Given the description of an element on the screen output the (x, y) to click on. 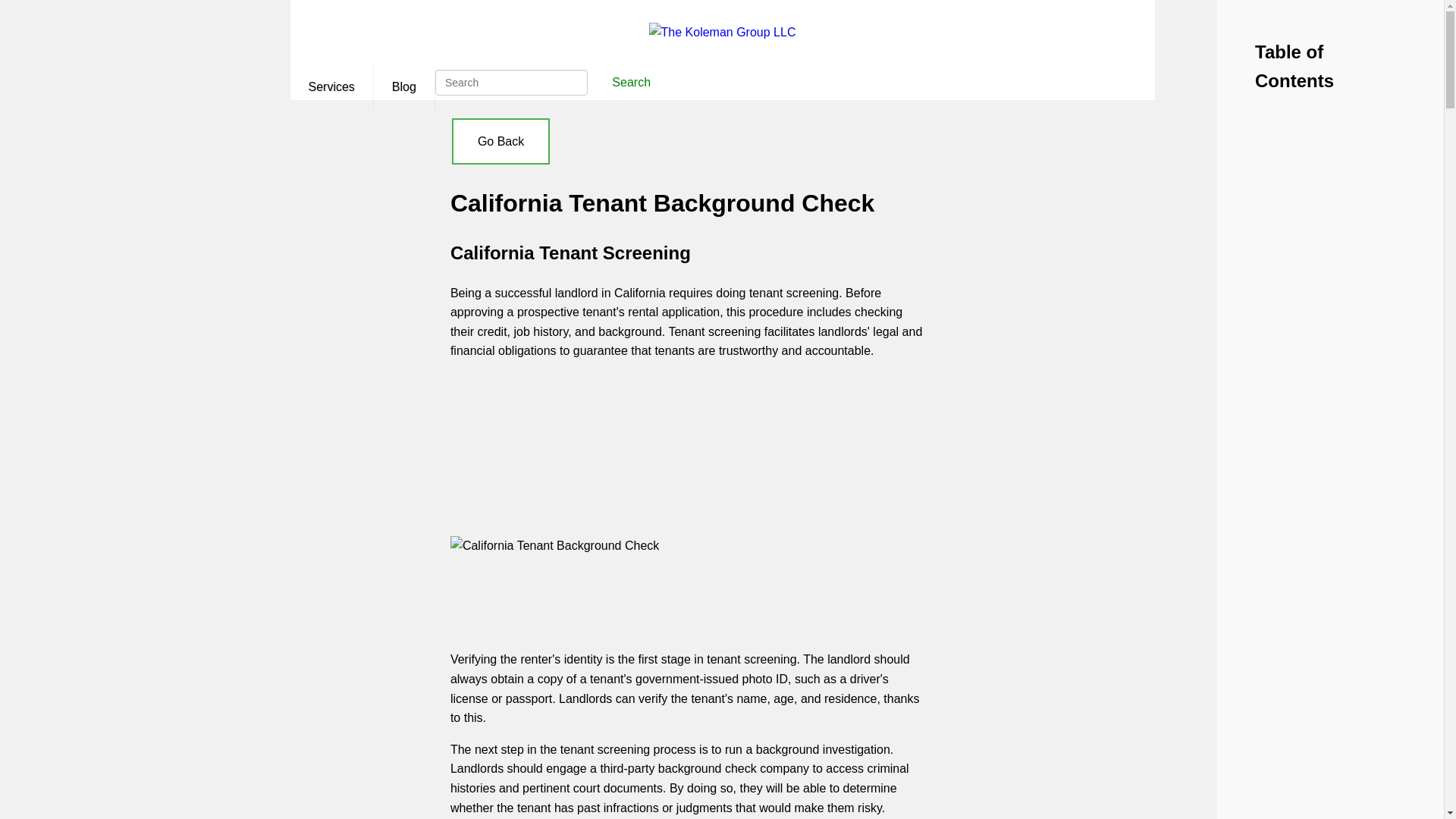
Search (631, 82)
Go Back (500, 141)
Services (330, 86)
Tenant Background Check (686, 429)
Blog (403, 86)
